Given the description of an element on the screen output the (x, y) to click on. 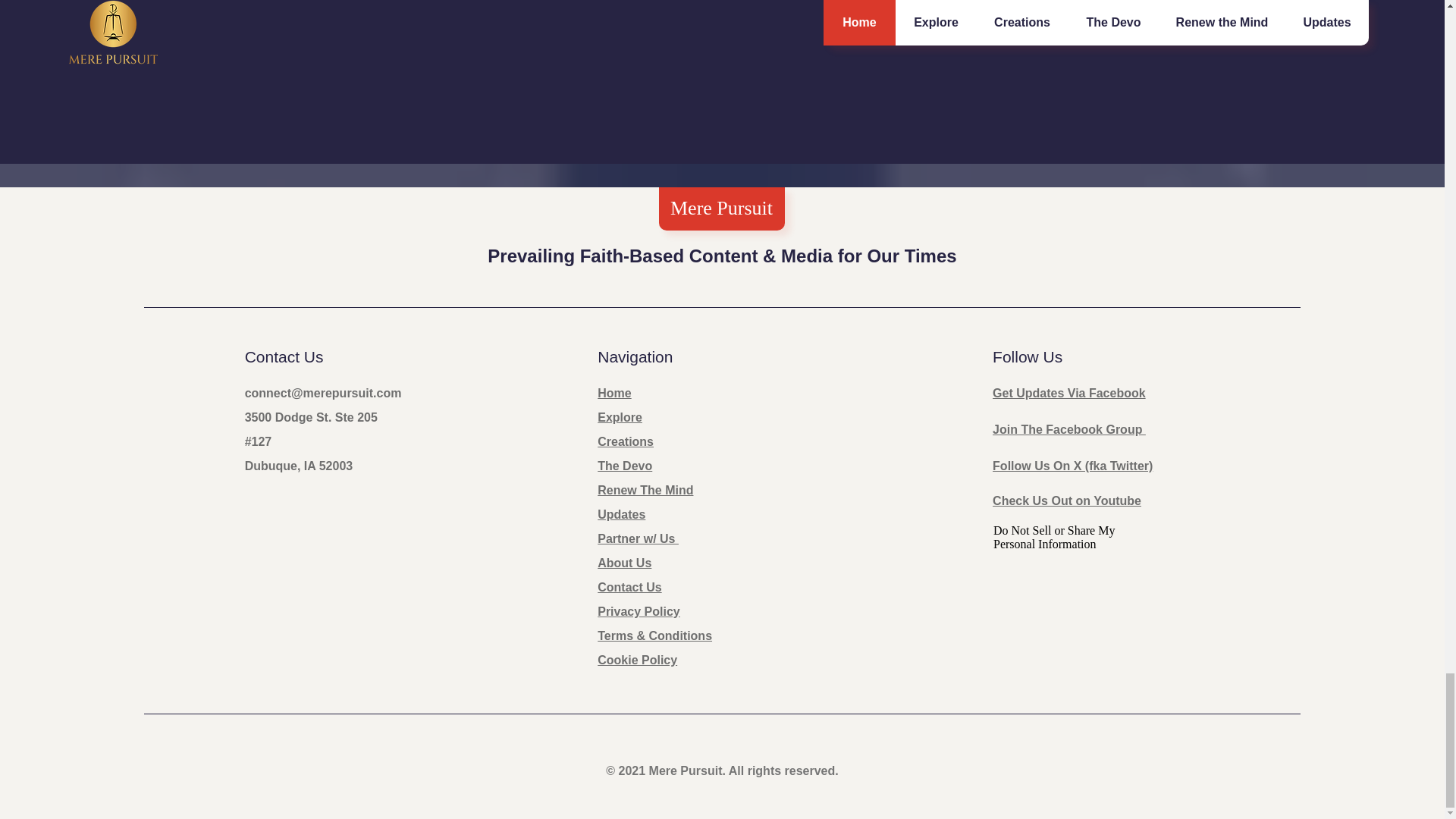
Embedded Content (1082, 67)
The Devo (624, 465)
Privacy Policy (637, 611)
Cookie Policy (636, 659)
Renew The Mind (644, 490)
Creations (624, 440)
Home (613, 392)
About Us (623, 562)
Contact Us (628, 586)
Explore (619, 417)
Check Us Out on Youtube (1066, 500)
Join The Facebook Group  (1068, 429)
Embedded Content (1074, 589)
Mere Pursuit (721, 208)
Get Updates Via Facebook (1068, 392)
